Given the description of an element on the screen output the (x, y) to click on. 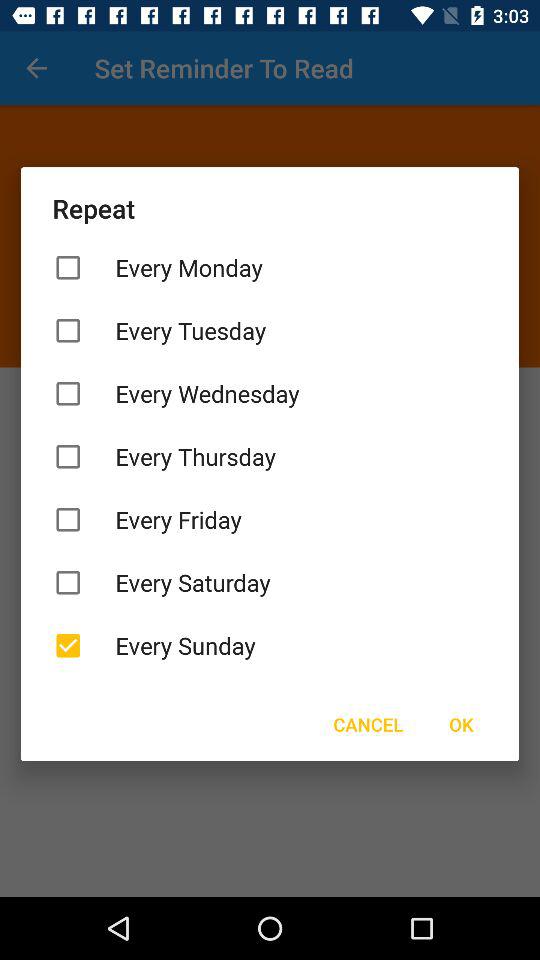
turn off icon above the every tuesday icon (270, 267)
